Given the description of an element on the screen output the (x, y) to click on. 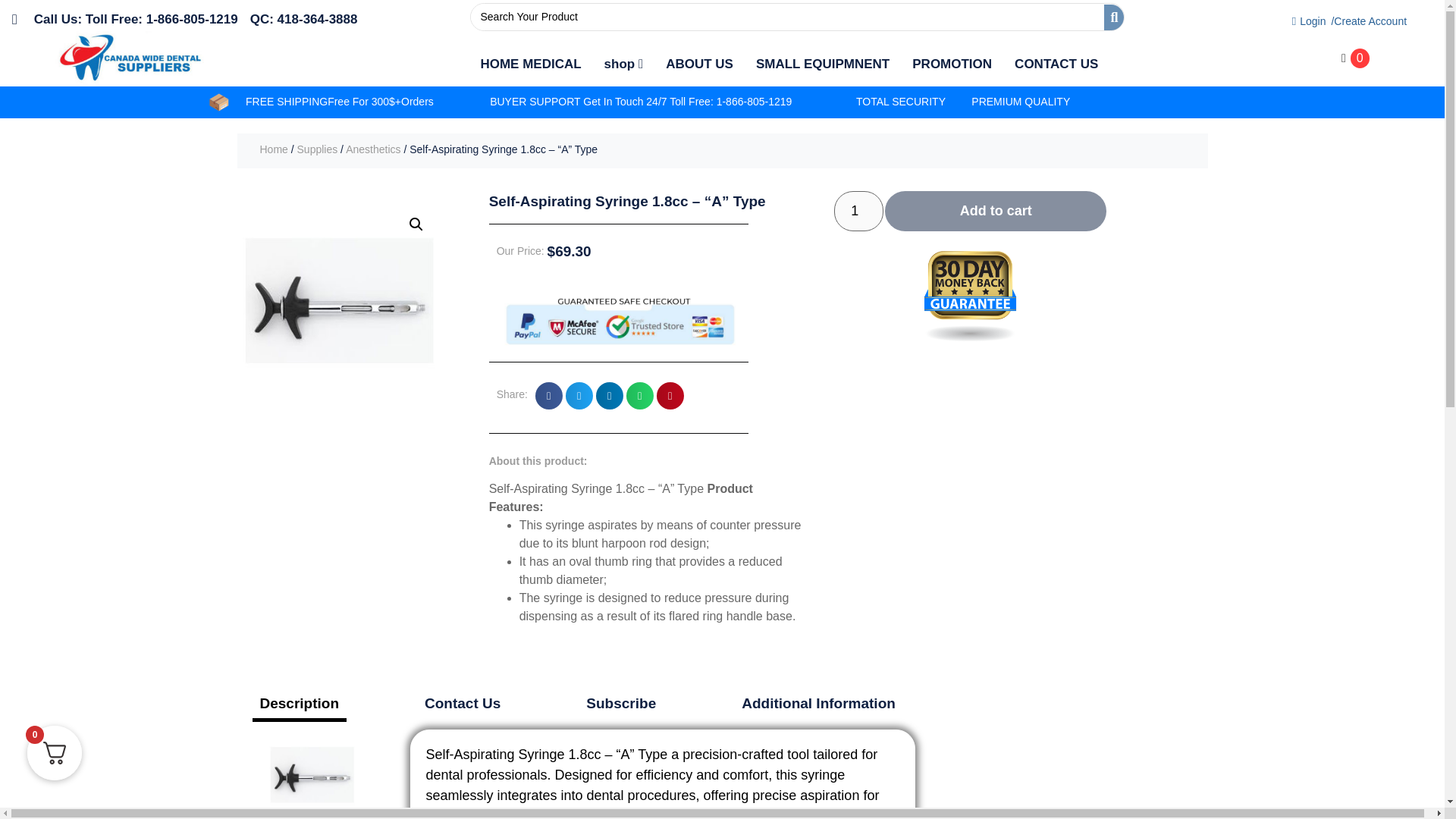
HOME MEDICAL (529, 63)
Login (1302, 21)
Call Us: Toll Free: 1-866-805-1219 (124, 19)
Self-Aspirating Syringe 1.8cc - "A" Type (338, 301)
QC: 418-364-3888 (304, 19)
shop (623, 63)
1 (858, 210)
